Given the description of an element on the screen output the (x, y) to click on. 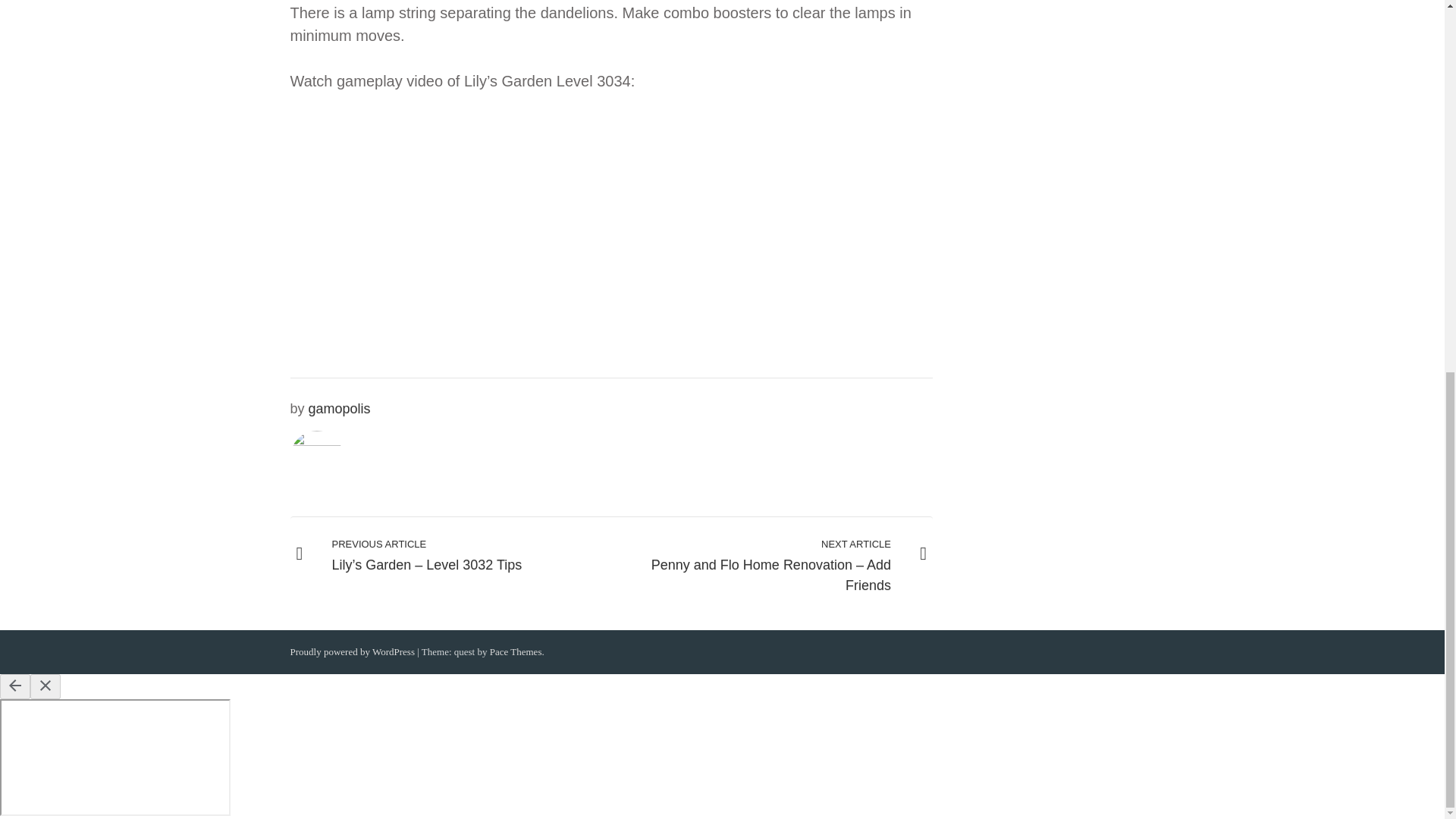
Proudly powered by WordPress (351, 651)
Pace Themes (515, 651)
Posts by gamopolis (339, 408)
YouTube video player (501, 233)
gamopolis (339, 408)
